Given the description of an element on the screen output the (x, y) to click on. 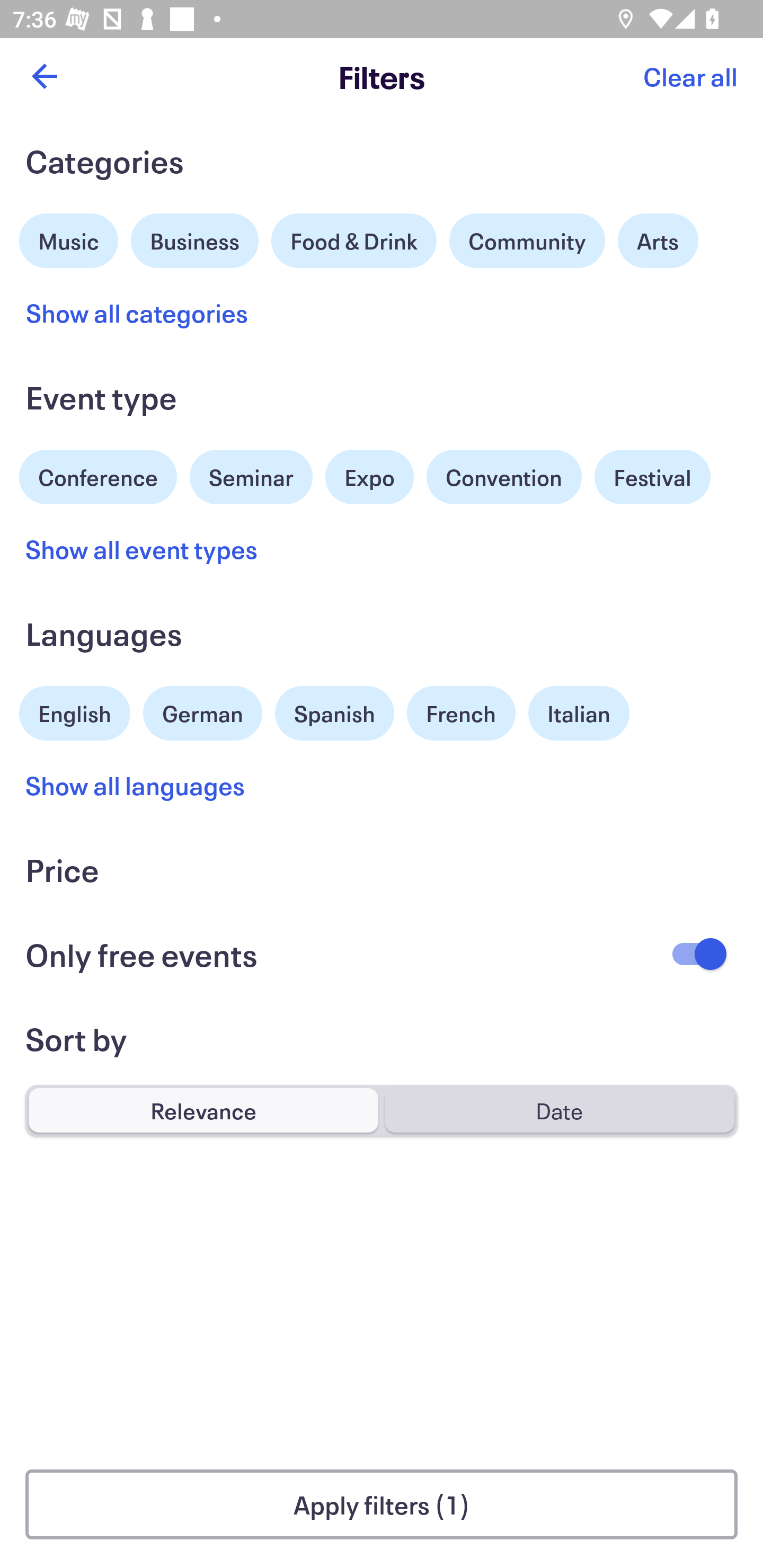
Back button (44, 75)
Clear all (690, 75)
Music (68, 238)
Business (194, 238)
Food & Drink (353, 240)
Community (527, 240)
Arts (658, 240)
Show all categories (136, 312)
Conference (98, 475)
Seminar (250, 477)
Expo (369, 477)
Convention (503, 477)
Festival (652, 477)
Show all event types (141, 548)
English (74, 710)
German (202, 710)
Spanish (334, 713)
French (460, 713)
Italian (578, 713)
Show all languages (135, 784)
Relevance (203, 1109)
Date (559, 1109)
Apply filters (1) (381, 1504)
